Given the description of an element on the screen output the (x, y) to click on. 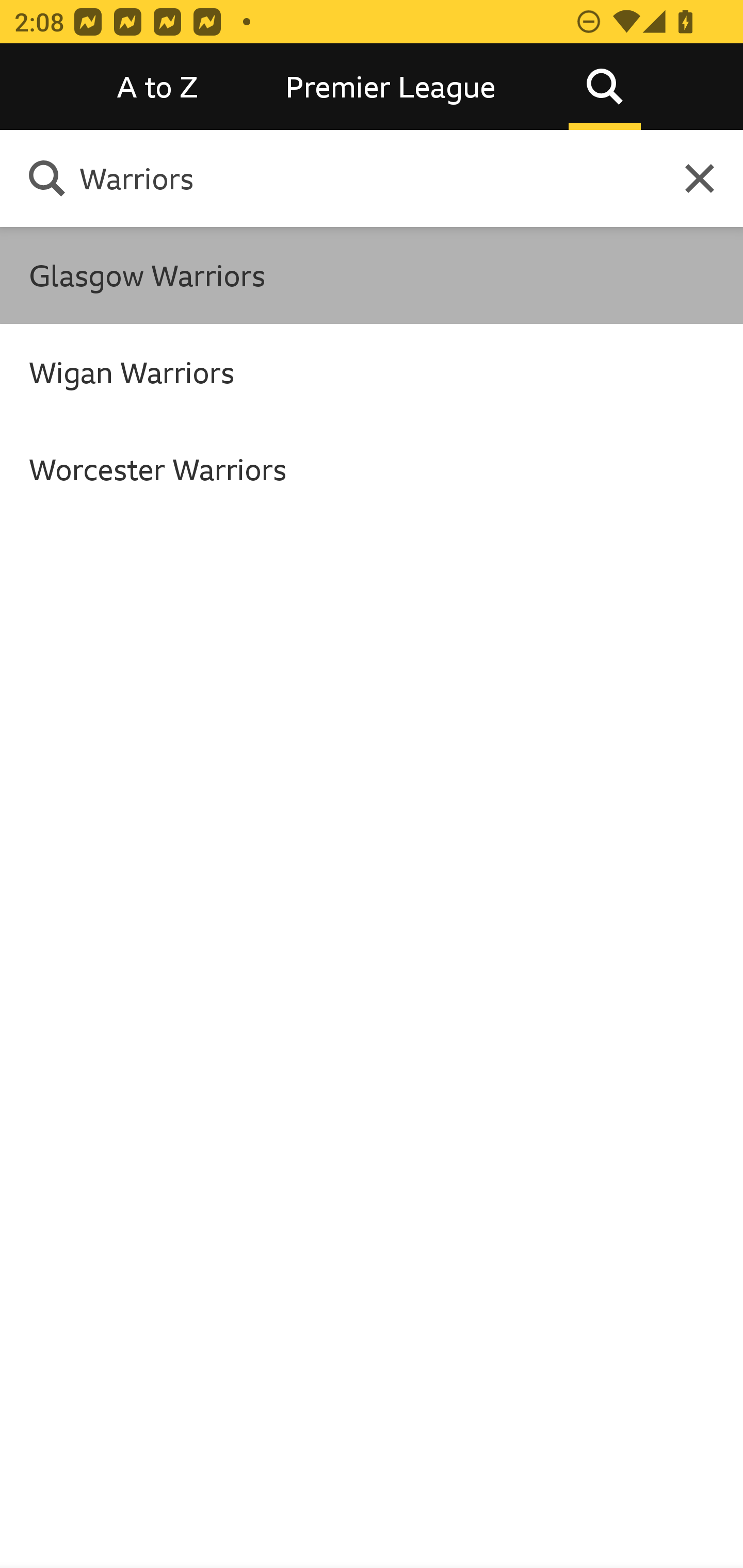
A to Z (157, 86)
Premier League (390, 86)
Warriors (360, 178)
clear (699, 177)
Glasgow Warriors (371, 275)
Wigan Warriors (371, 372)
Worcester Warriors (371, 468)
